Given the description of an element on the screen output the (x, y) to click on. 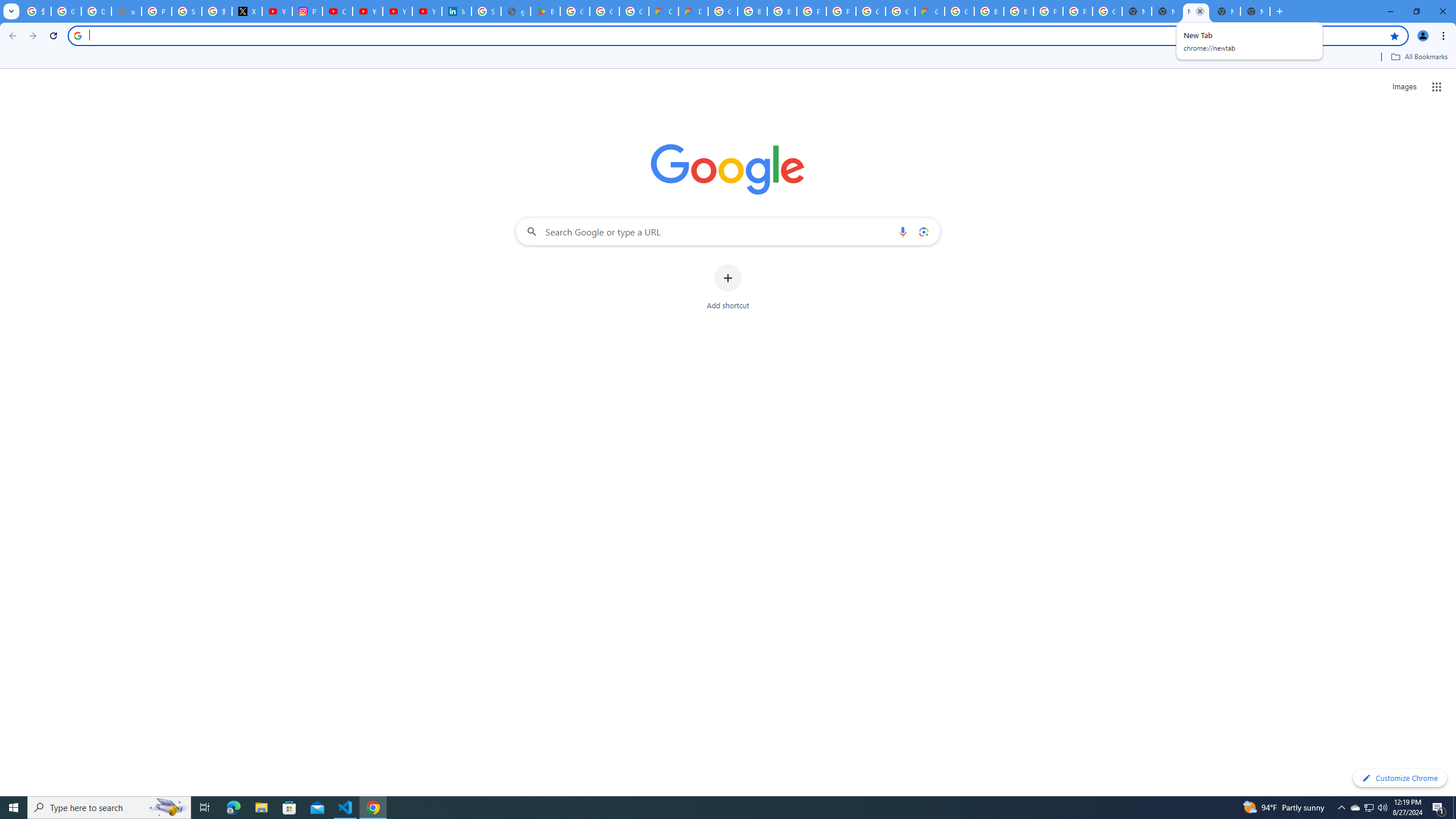
Google Cloud Platform (722, 11)
Browse Chrome as a guest - Computer - Google Chrome Help (781, 11)
Customize Chrome (1399, 778)
Bluey: Let's Play! - Apps on Google Play (544, 11)
Search Google or type a URL (727, 230)
YouTube Culture & Trends - YouTube Top 10, 2021 (397, 11)
